Given the description of an element on the screen output the (x, y) to click on. 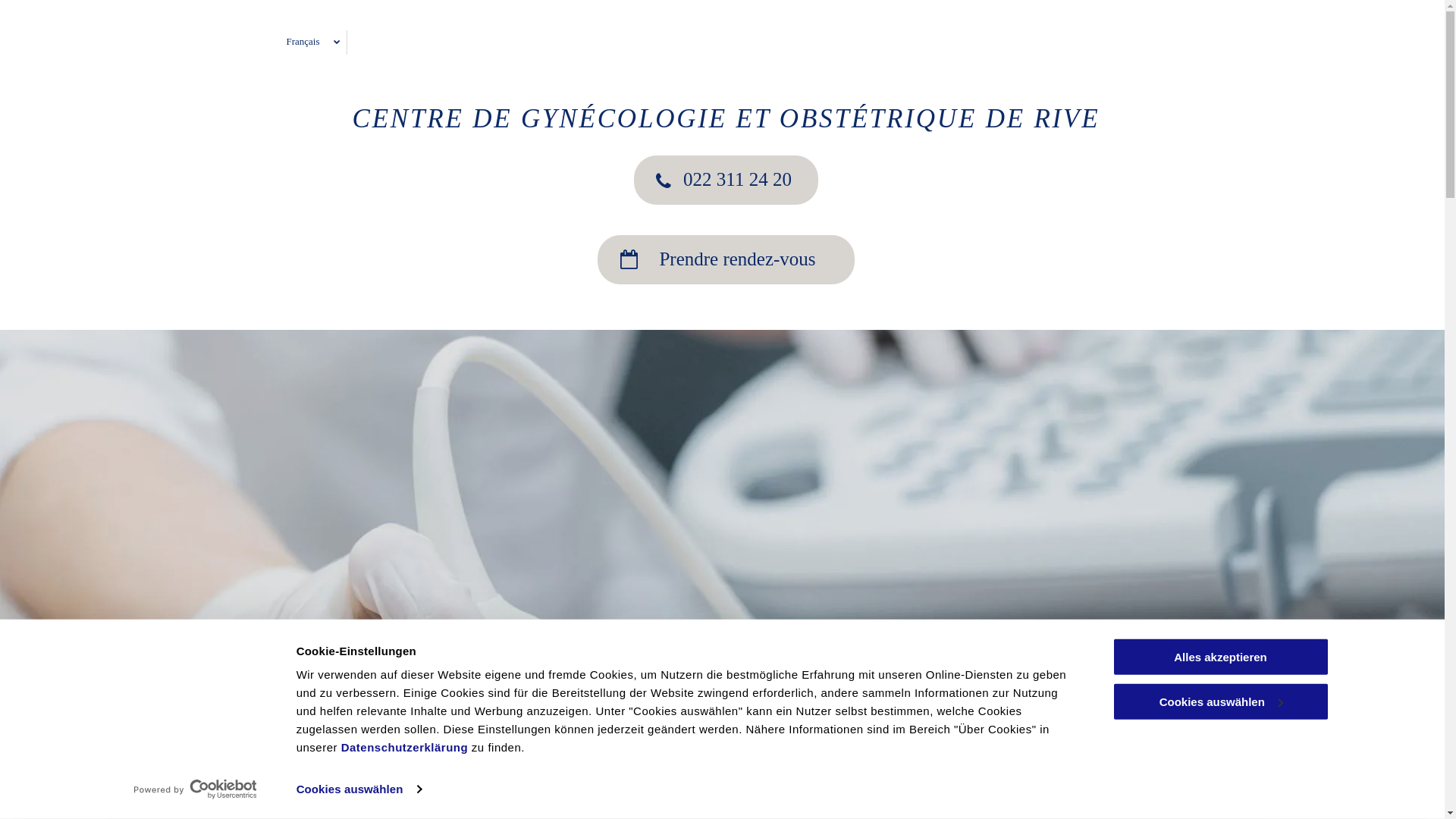
Prendre rendez-vous Element type: text (725, 259)
022 311 24 20 Element type: text (725, 178)
Alles akzeptieren Element type: text (1219, 656)
